Given the description of an element on the screen output the (x, y) to click on. 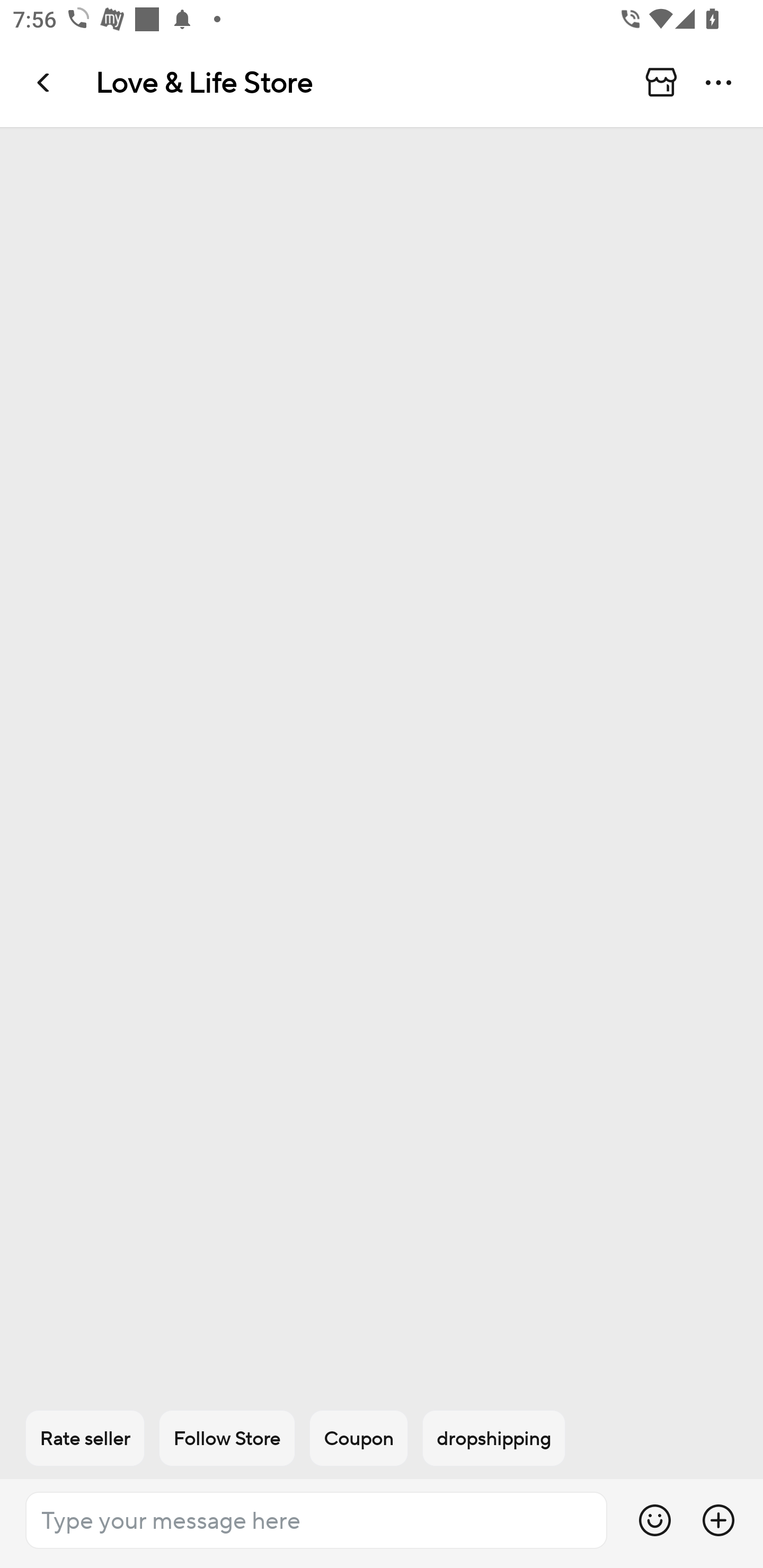
Navigate up (44, 82)
Rate seller (84, 1437)
Follow Store (226, 1437)
Coupon (358, 1437)
dropshipping (493, 1437)
Type your message here (316, 1520)
